Given the description of an element on the screen output the (x, y) to click on. 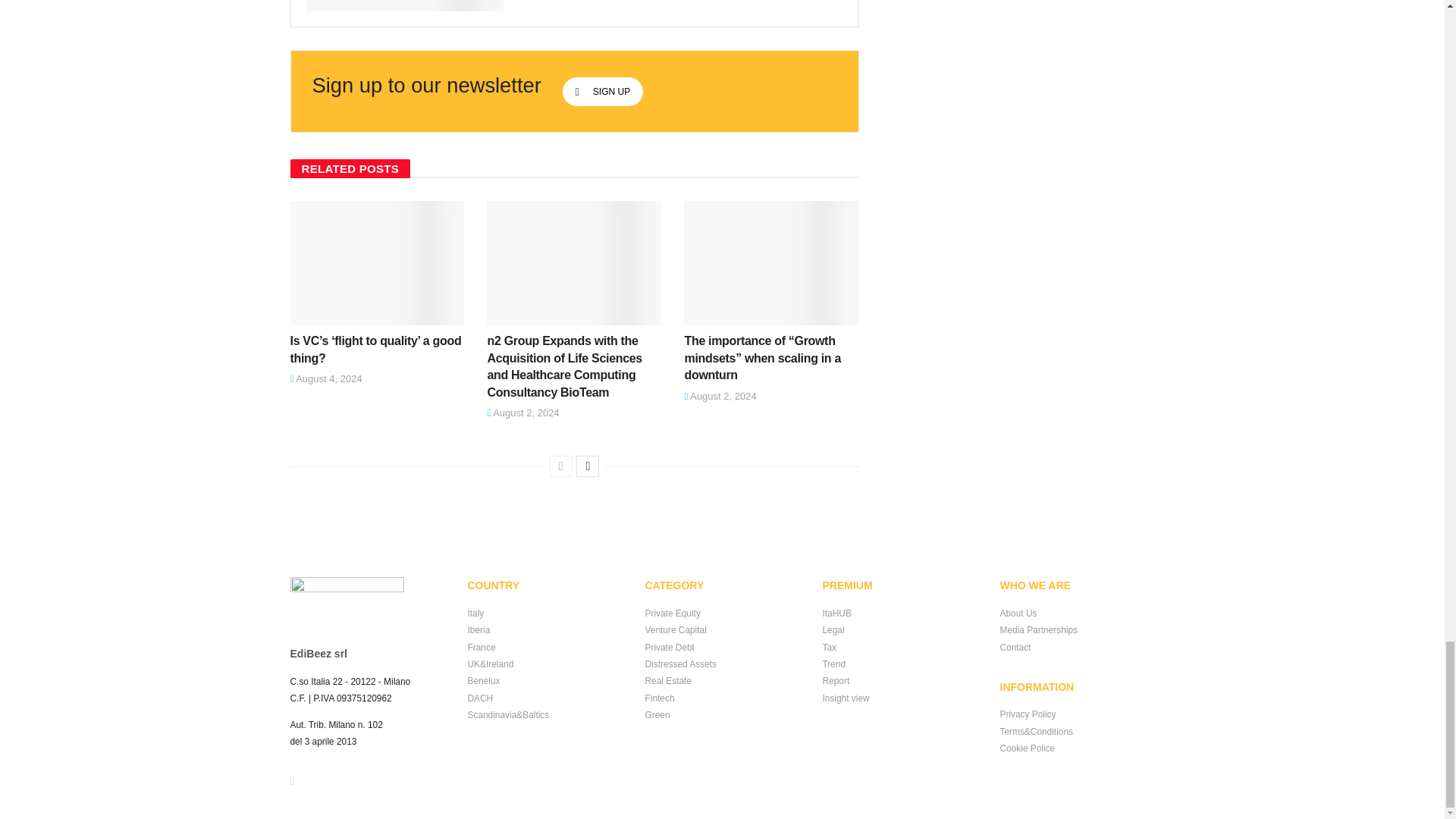
BeBeez-International-logo-150px (346, 599)
Previous (561, 465)
Next (587, 465)
